Given the description of an element on the screen output the (x, y) to click on. 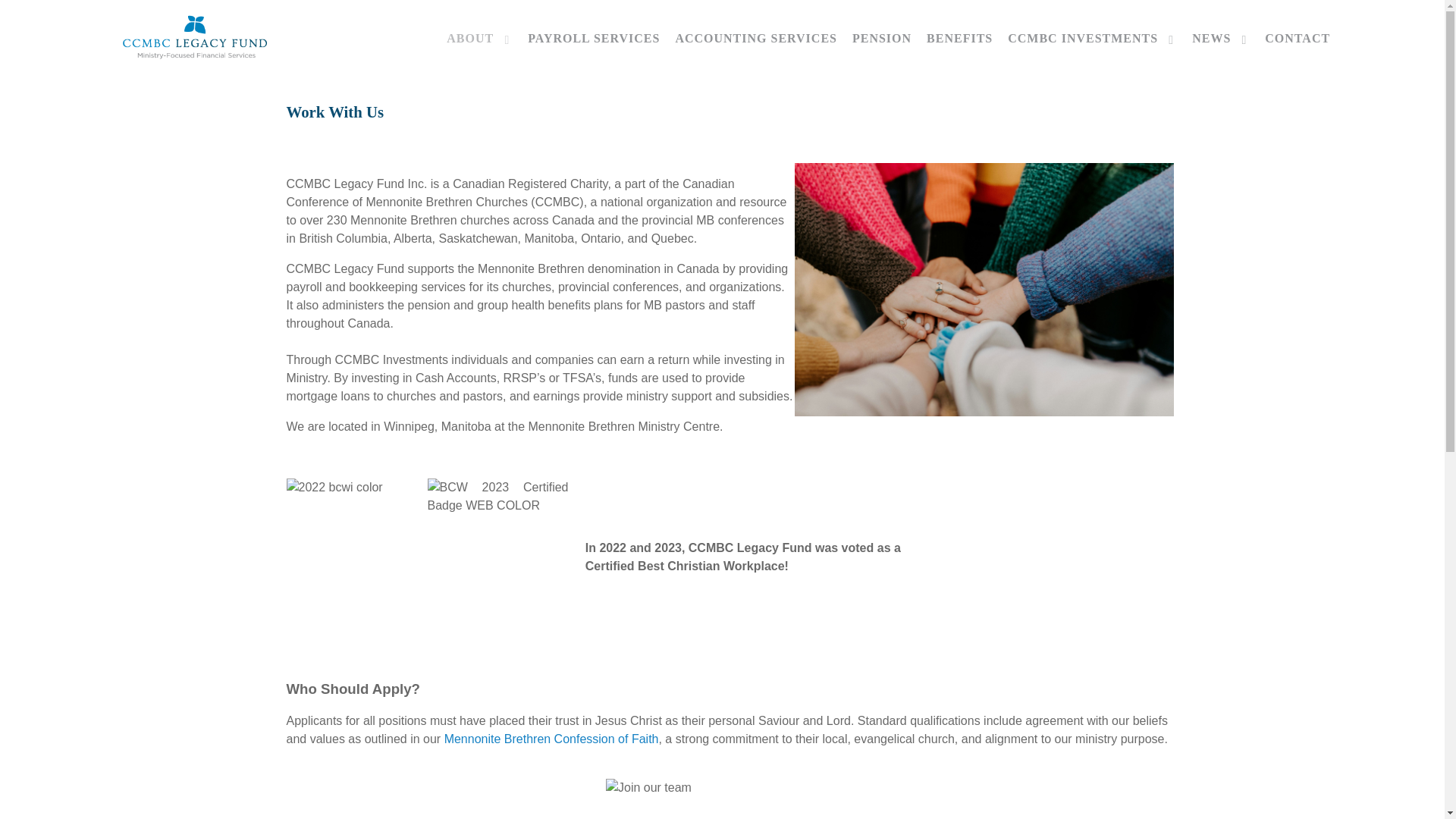
ACCOUNTING SERVICES (756, 38)
CONTACT (1297, 38)
NEWS (1220, 38)
ABOUT (479, 38)
PENSION (881, 38)
BENEFITS (959, 38)
CCMBC INVESTMENTS (1091, 38)
Mennonite Brethren Confession of Faith (551, 738)
PAYROLL SERVICES (593, 38)
